Given the description of an element on the screen output the (x, y) to click on. 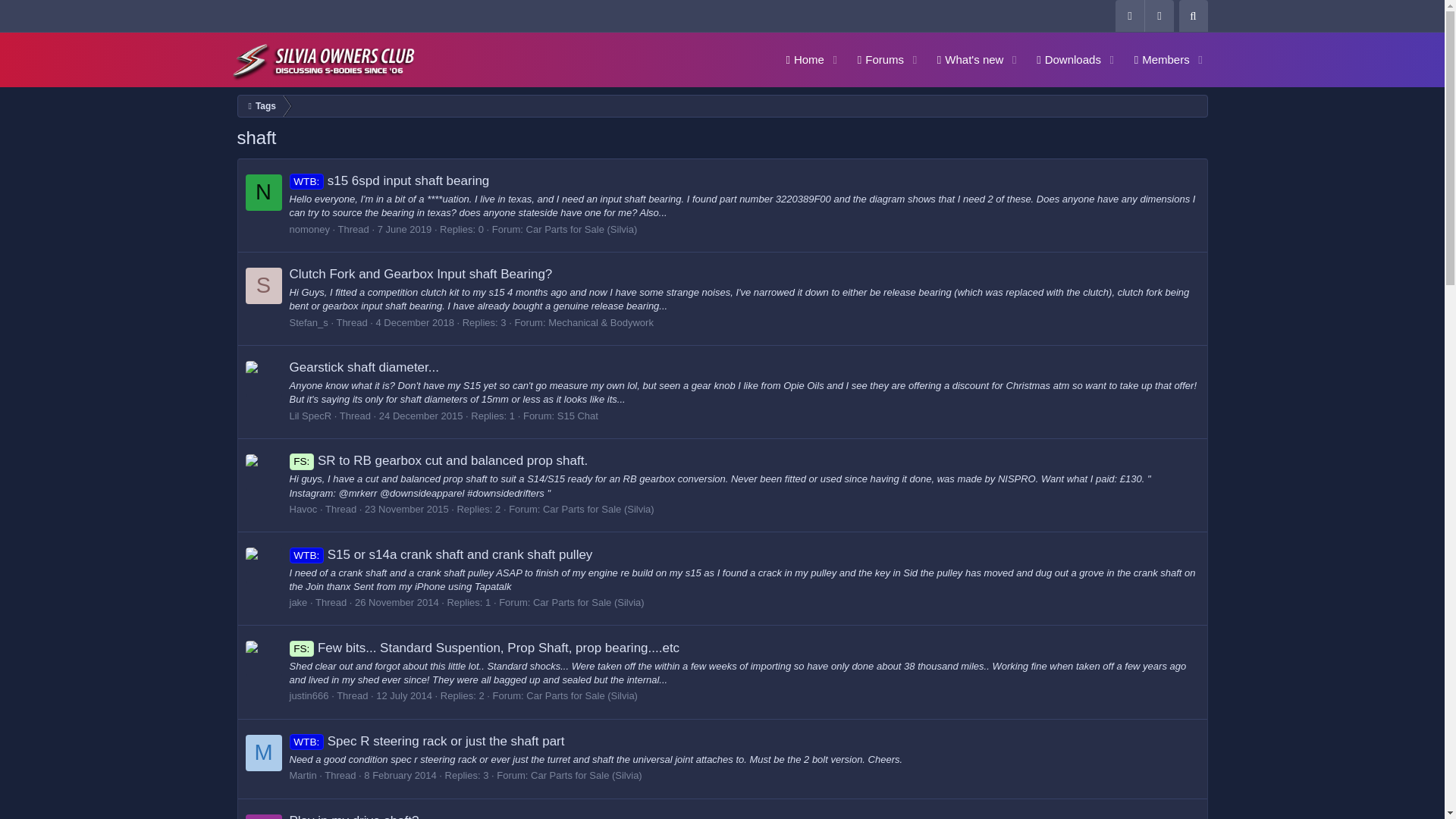
Members (1156, 59)
Home (799, 59)
7 June 2019 at 10:54 PM (404, 229)
12 July 2014 at 1:44 PM (403, 695)
4 December 2018 at 10:12 AM (414, 322)
24 December 2015 at 6:37 PM (420, 415)
Search (988, 59)
23 November 2015 at 1:47 PM (1192, 15)
8 February 2014 at 3:07 PM (406, 509)
Downloads (399, 775)
What's new (1063, 59)
26 November 2014 at 12:36 AM (964, 59)
Forums (397, 602)
